Given the description of an element on the screen output the (x, y) to click on. 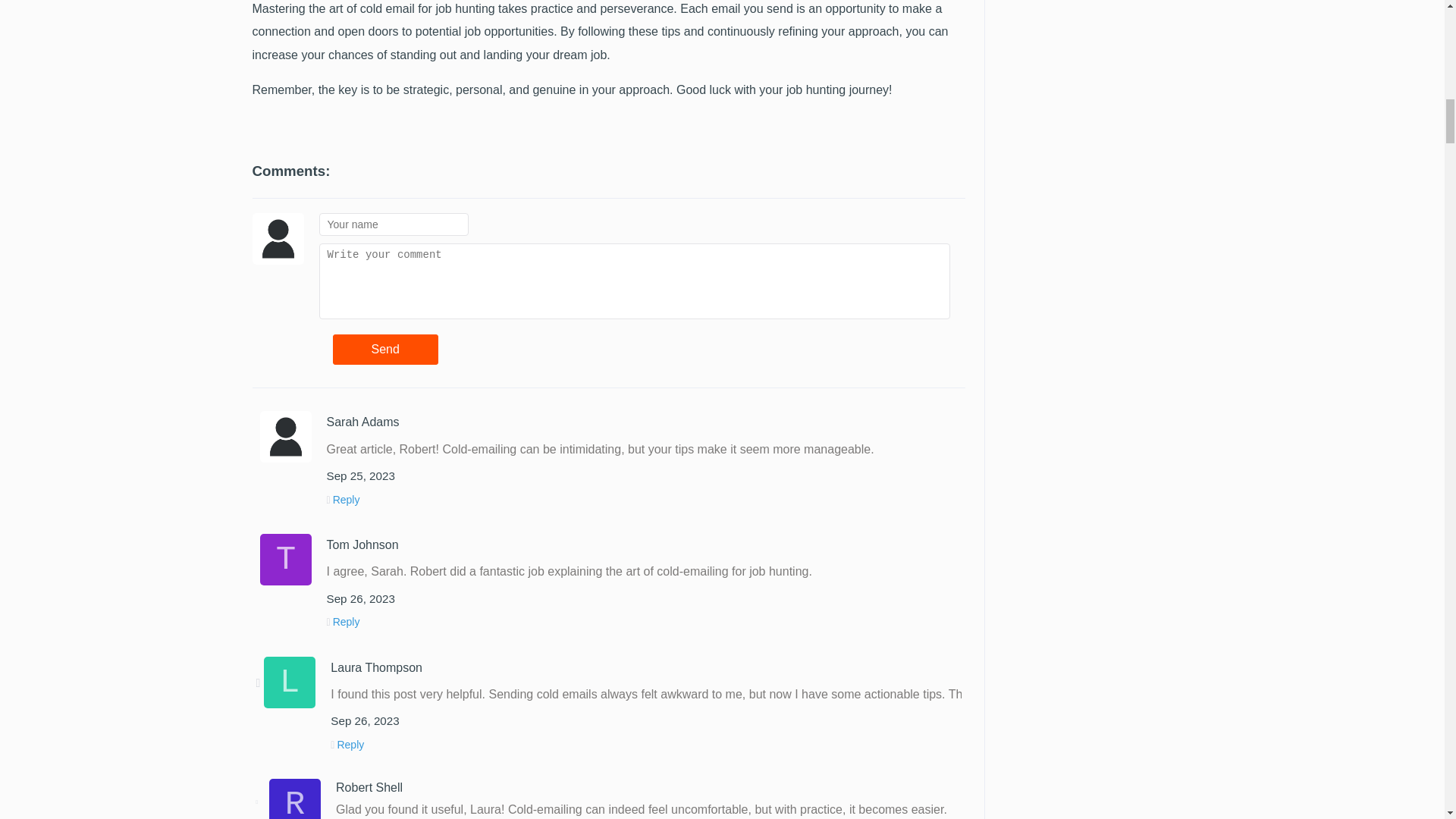
L (289, 682)
R (294, 798)
Send (384, 349)
Send (384, 349)
T (285, 559)
